Given the description of an element on the screen output the (x, y) to click on. 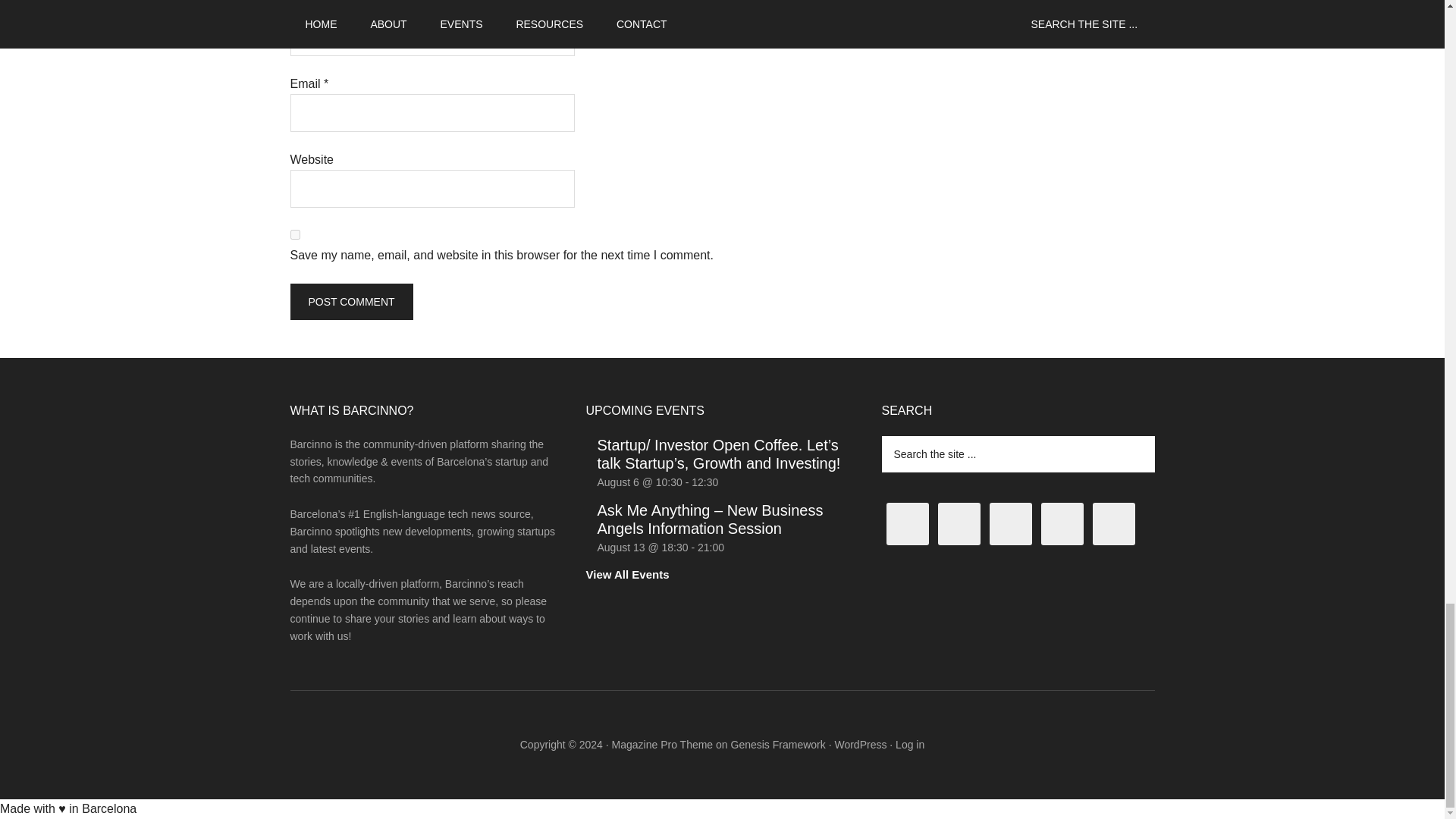
yes (294, 234)
Post Comment (350, 301)
